Given the description of an element on the screen output the (x, y) to click on. 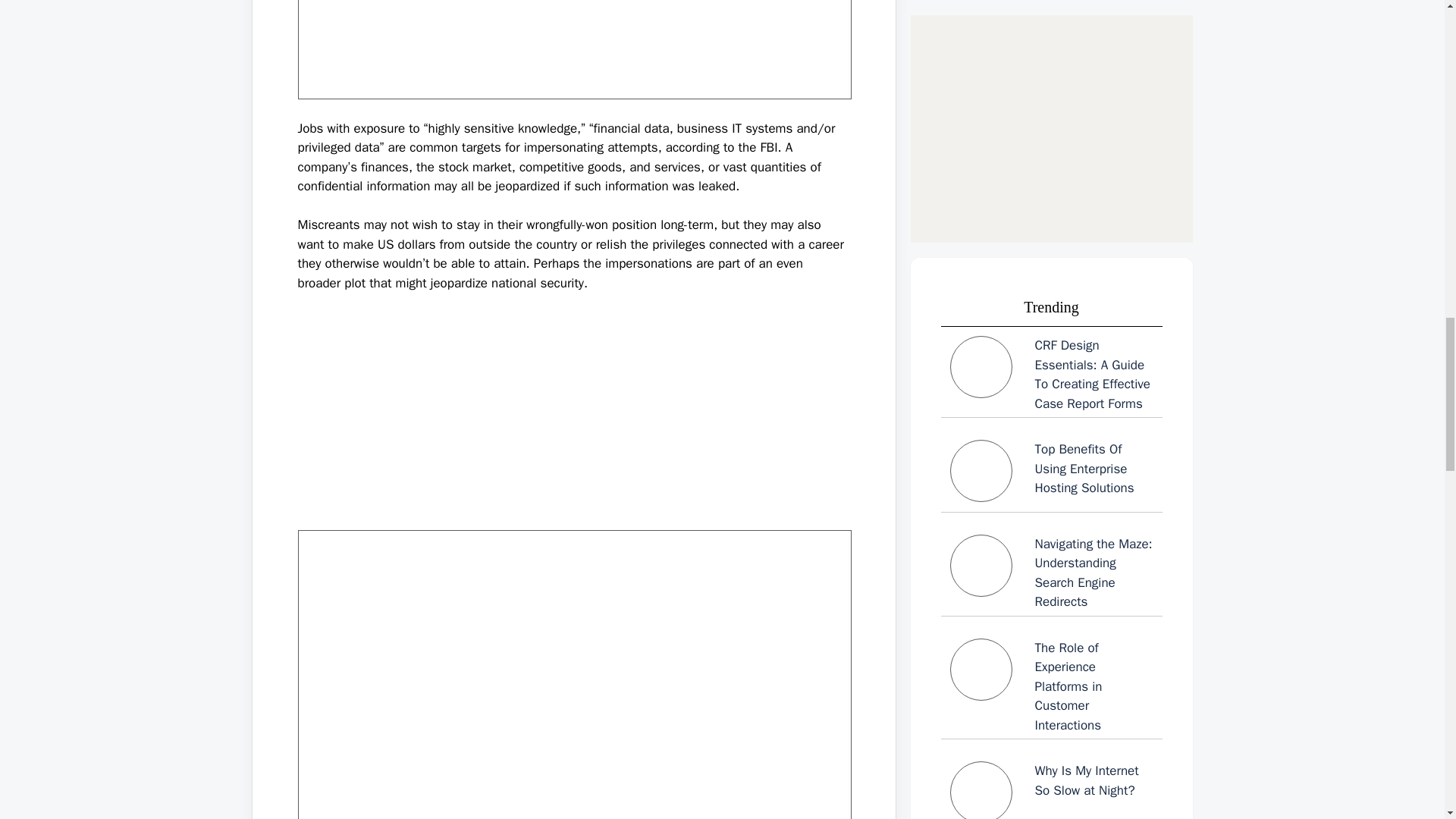
visuals ufK deiLqY unsplash x (573, 49)
